Given the description of an element on the screen output the (x, y) to click on. 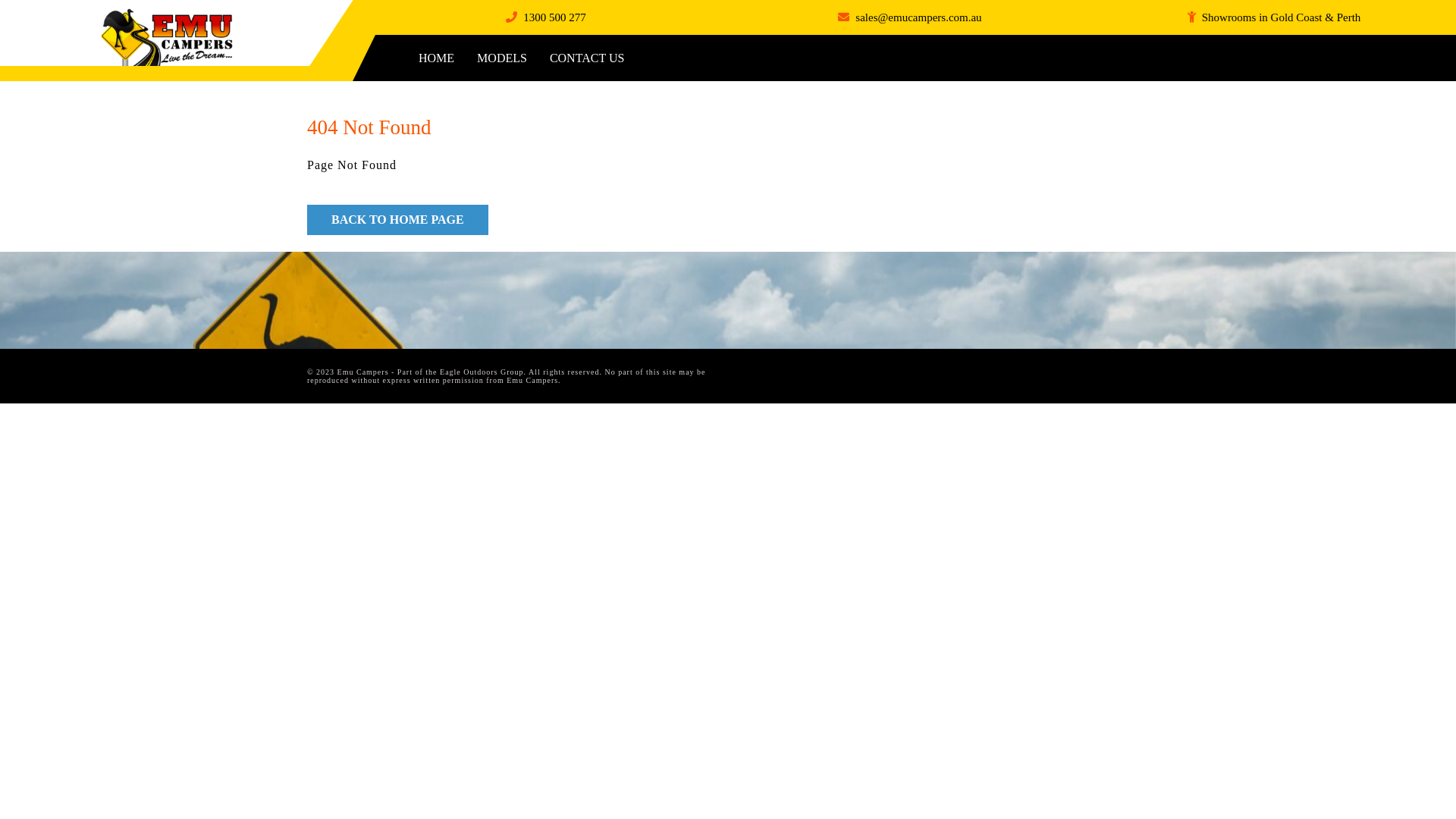
HOME Element type: text (436, 57)
MODELS Element type: text (501, 57)
sales@emucampers.com.au Element type: text (918, 17)
BACK TO HOME PAGE Element type: text (397, 219)
1300 500 277 Element type: text (554, 17)
CONTACT US Element type: text (586, 57)
